Given the description of an element on the screen output the (x, y) to click on. 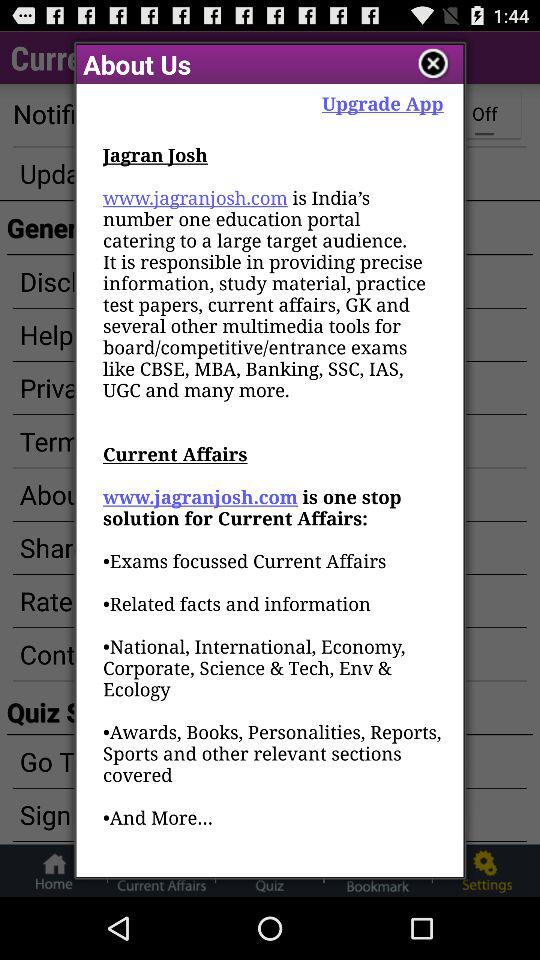
select jagran josh www item (273, 509)
